Given the description of an element on the screen output the (x, y) to click on. 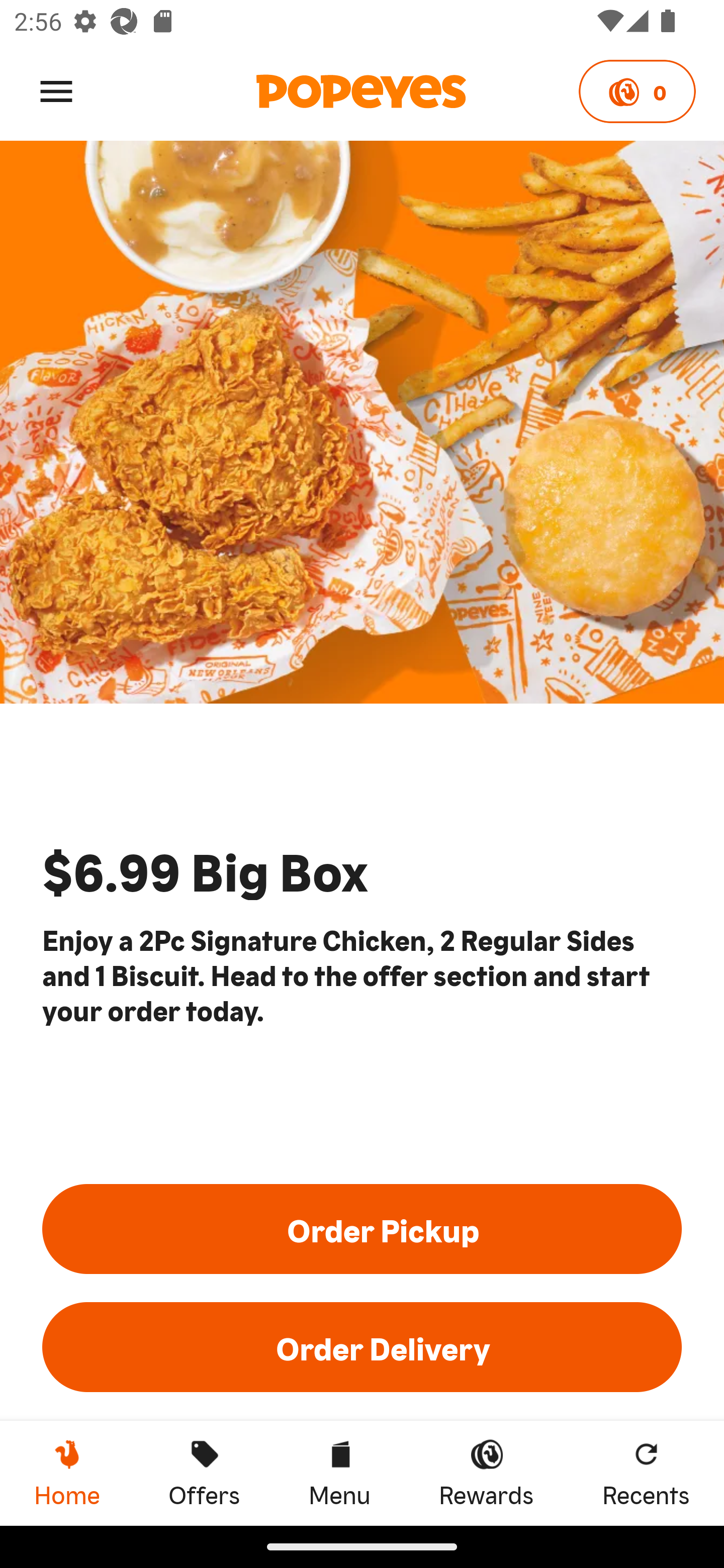
Menu  (56, 90)
0 Points 0 (636, 91)
Order Pickup (361, 1228)
Order Delivery (361, 1346)
Home, current page Home Home, current page (66, 1472)
Offers Offers Offers (203, 1472)
Menu Menu Menu (339, 1472)
Rewards Rewards Rewards (486, 1472)
Recents Recents Recents (646, 1472)
